Given the description of an element on the screen output the (x, y) to click on. 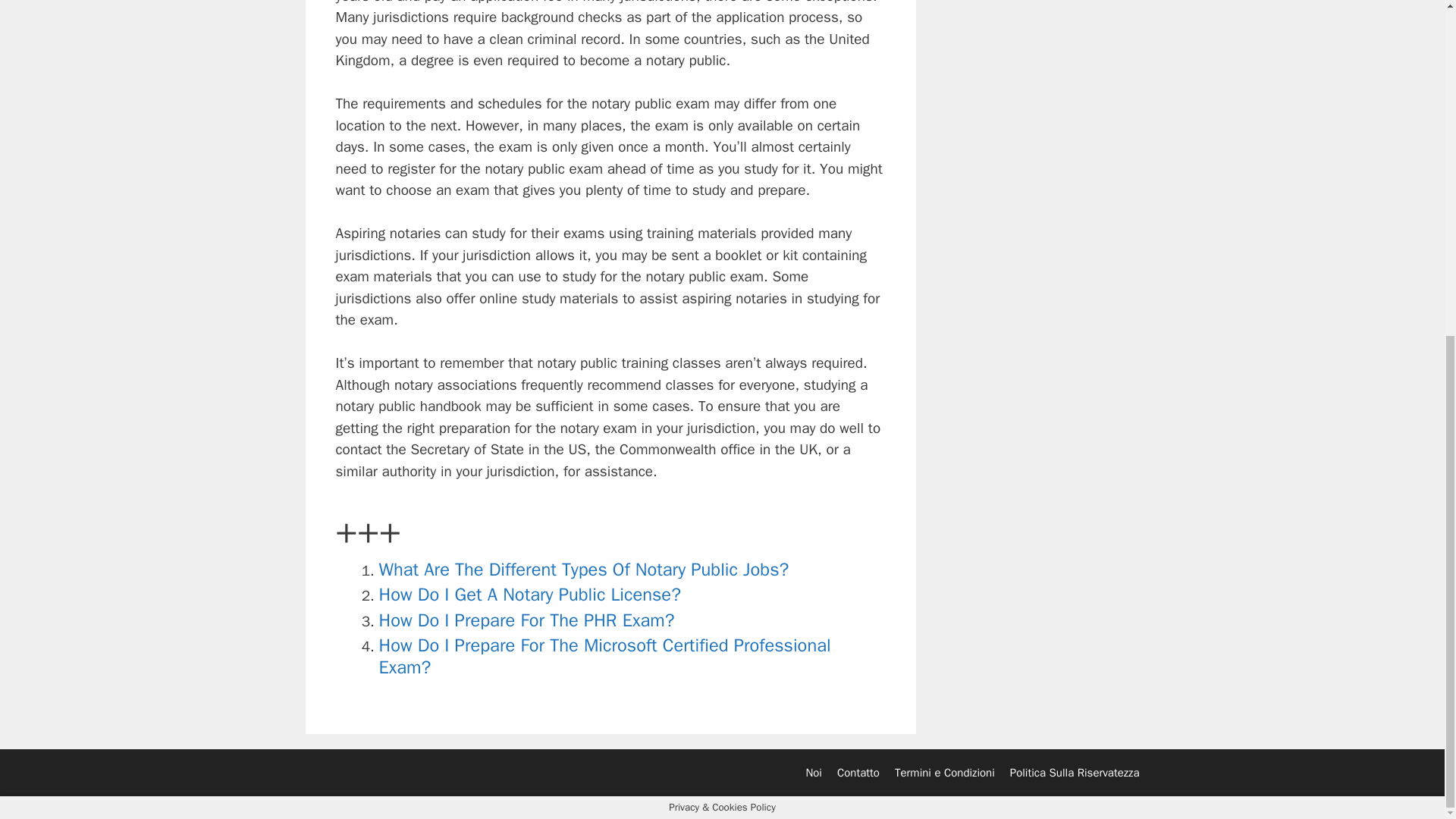
How do I get a Notary Public License? (529, 594)
What Are The Different Types Of Notary Public Jobs? (583, 568)
Contatto (858, 772)
How Do I Prepare For The PHR Exam? (526, 620)
How Do I Get A Notary Public License? (529, 594)
Noi (813, 772)
Politica Sulla Riservatezza (1075, 772)
Termini e Condizioni (944, 772)
What are the Different Types of Notary Public Jobs? (583, 568)
How do I Prepare for the PHR Exam? (526, 620)
